Given the description of an element on the screen output the (x, y) to click on. 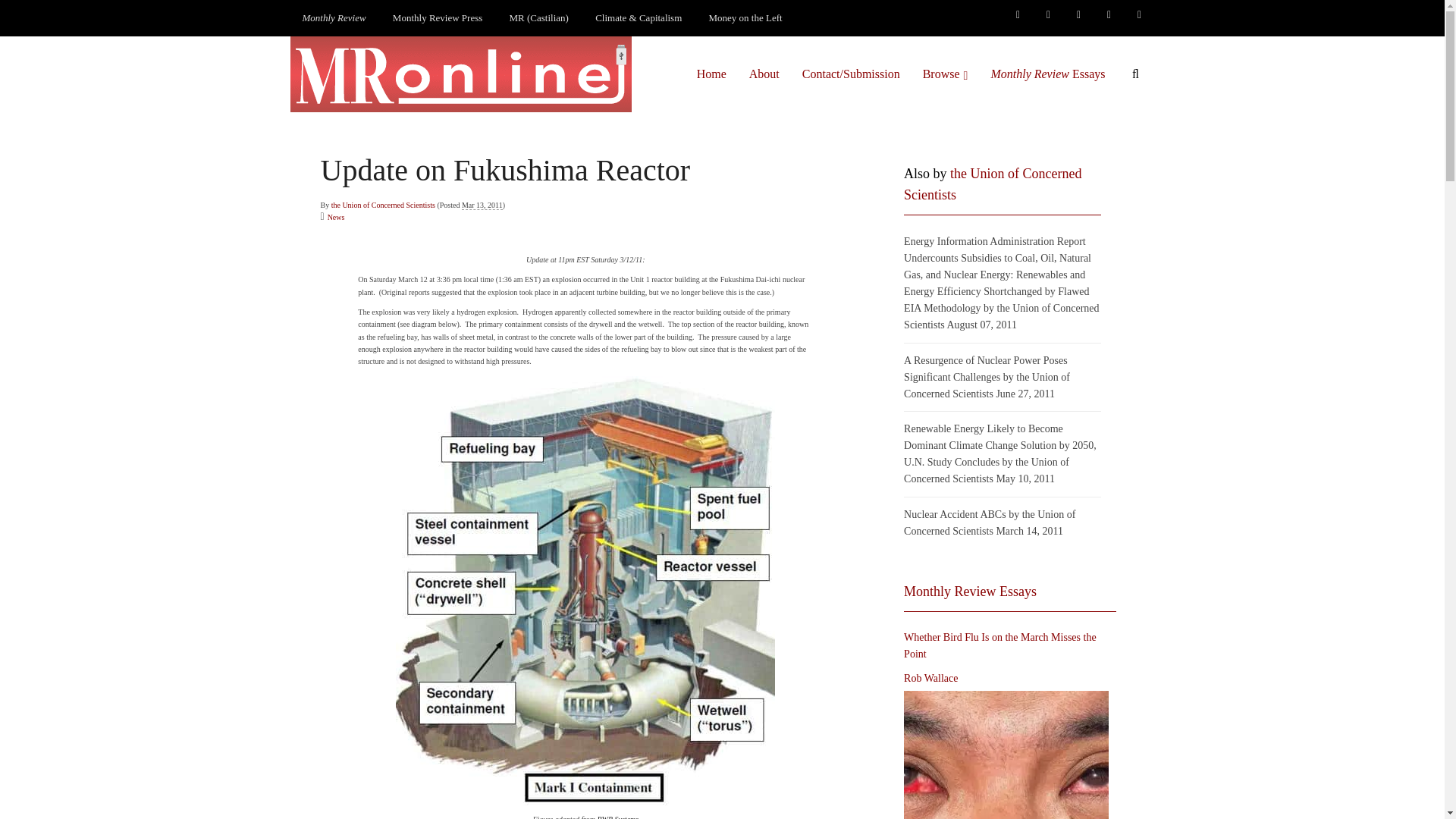
Monthly Review Magazine (333, 18)
Money on the Left (745, 18)
Posts by Rob Wallace (931, 678)
Browse (945, 74)
Monthly Review (333, 18)
Whether Bird Flu Is on the March Misses the Point (1006, 755)
Monthly Review Press (437, 18)
